Given the description of an element on the screen output the (x, y) to click on. 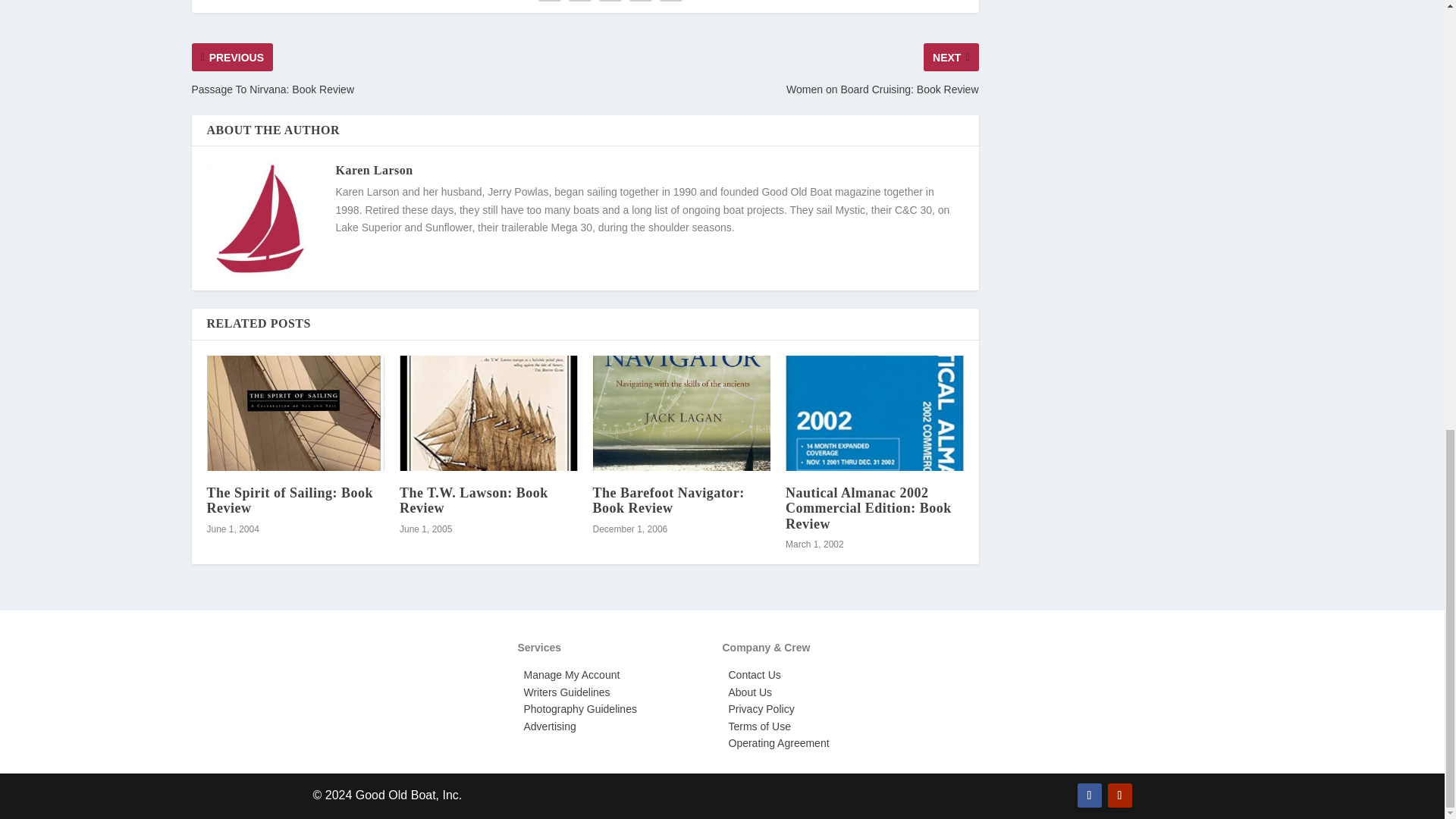
View all posts by Karen Larson (373, 169)
Share "Bull Canyon: Book Review" via Twitter (579, 2)
Follow on Facebook (1088, 794)
The Spirit of Sailing: Book Review (295, 412)
The Barefoot Navigator: Book Review (681, 412)
Share "Bull Canyon: Book Review" via Email (641, 2)
Share "Bull Canyon: Book Review" via Pinterest (610, 2)
Share "Bull Canyon: Book Review" via Print (670, 2)
Share "Bull Canyon: Book Review" via Facebook (549, 2)
The T.W. Lawson: Book Review (488, 412)
Nautical Almanac 2002 Commercial Edition: Book Review (874, 412)
